Given the description of an element on the screen output the (x, y) to click on. 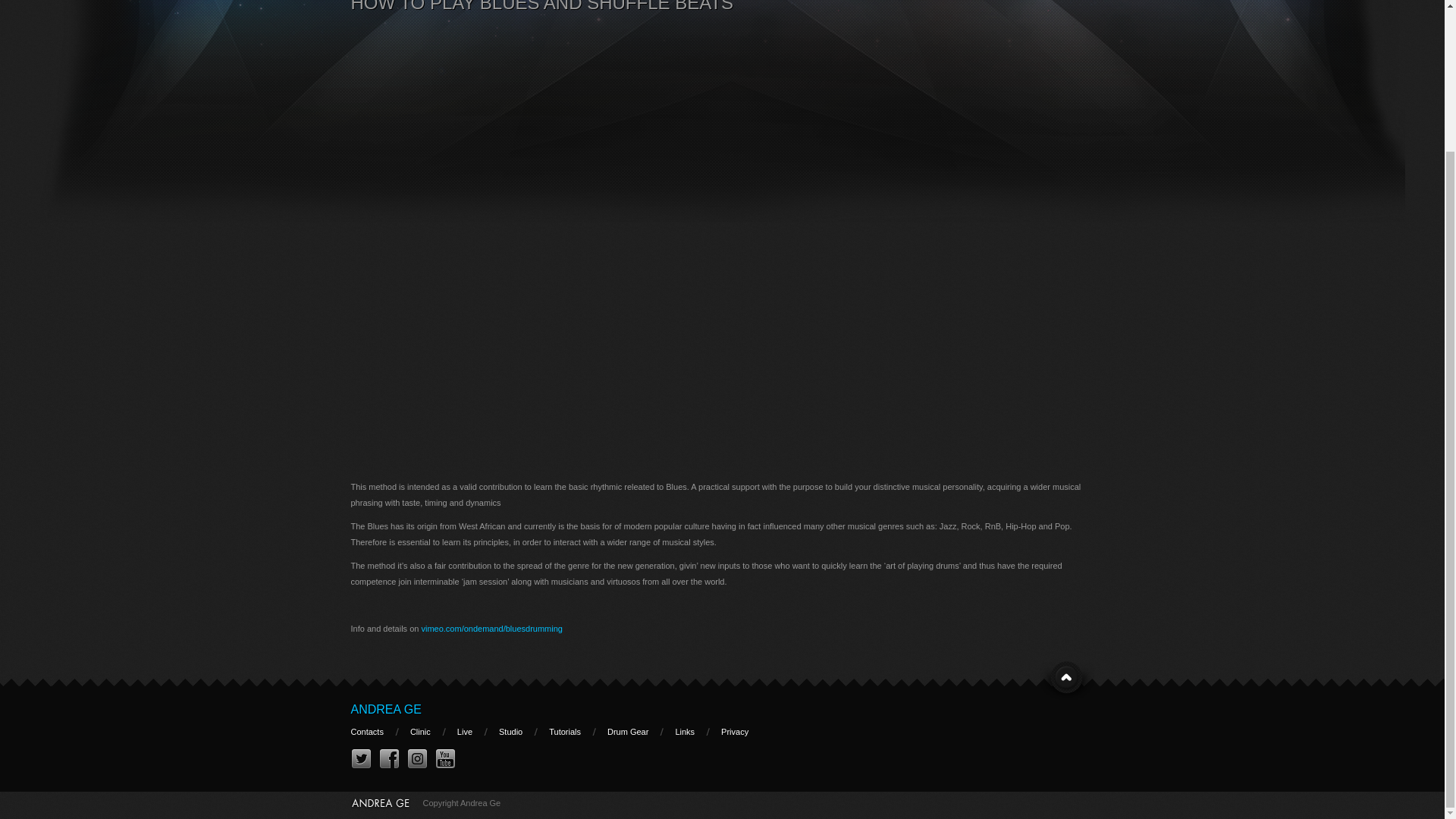
Twitter (360, 759)
Tutorials (564, 731)
ANDREA GE (385, 708)
Drum Gear (627, 731)
Linkedin (416, 759)
Contacts (366, 731)
Privacy (734, 731)
